Given the description of an element on the screen output the (x, y) to click on. 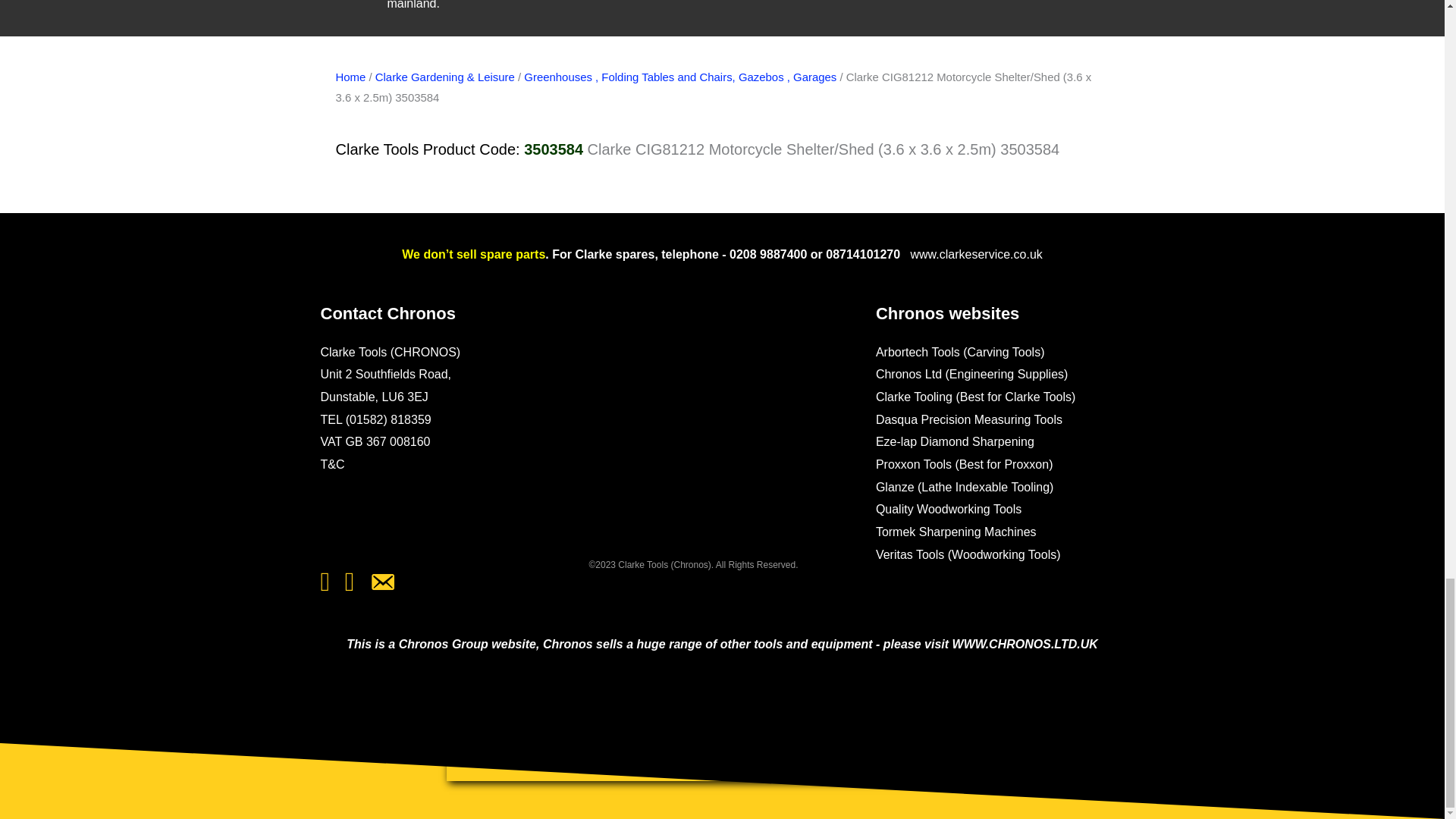
Payments by Sage Pay (415, 521)
Engineering tools and model engineering supplies (721, 743)
